Given the description of an element on the screen output the (x, y) to click on. 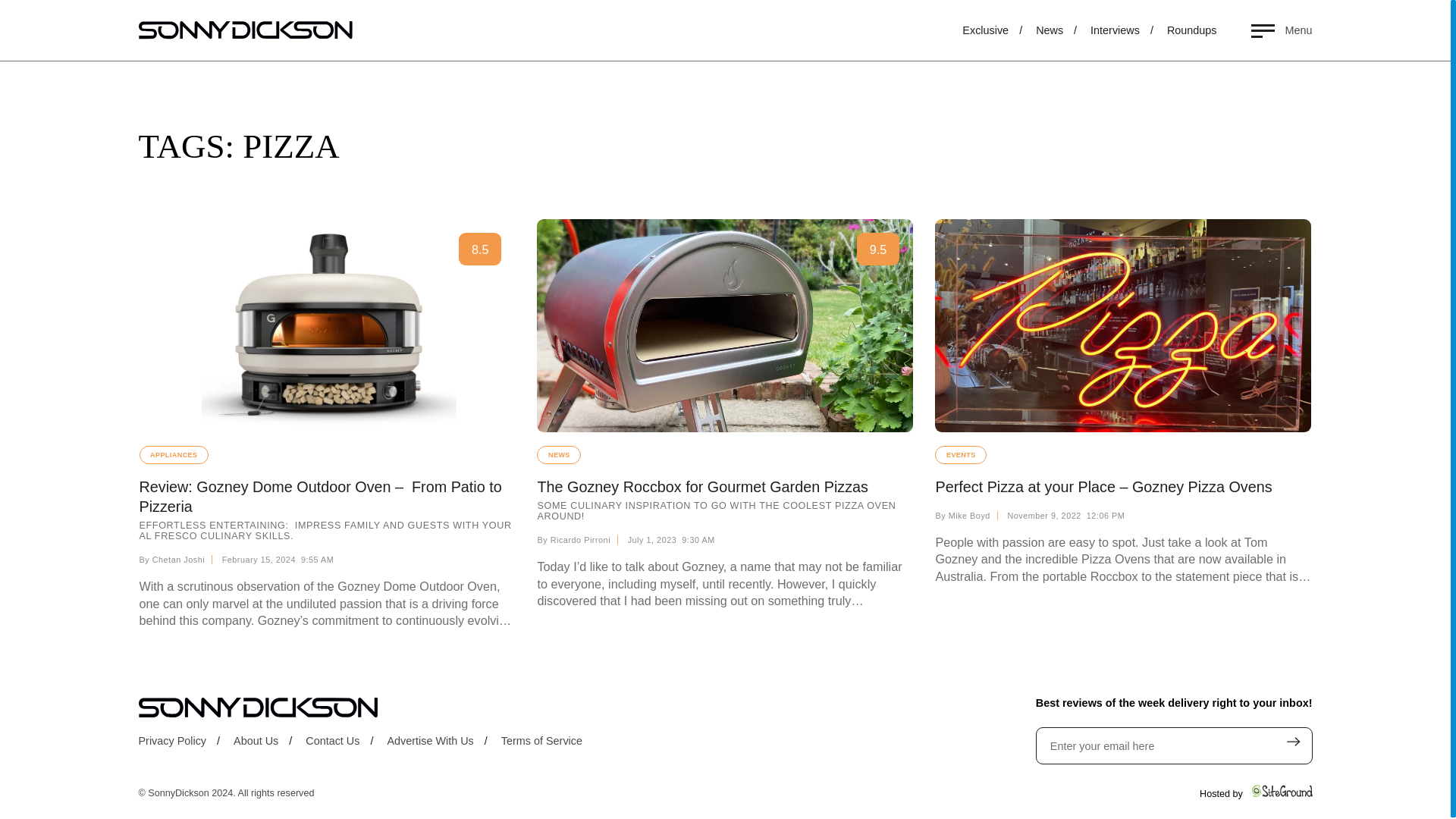
Interviews (1238, 33)
Roundups (1316, 33)
Exclusive (1101, 33)
News (1165, 33)
